Given the description of an element on the screen output the (x, y) to click on. 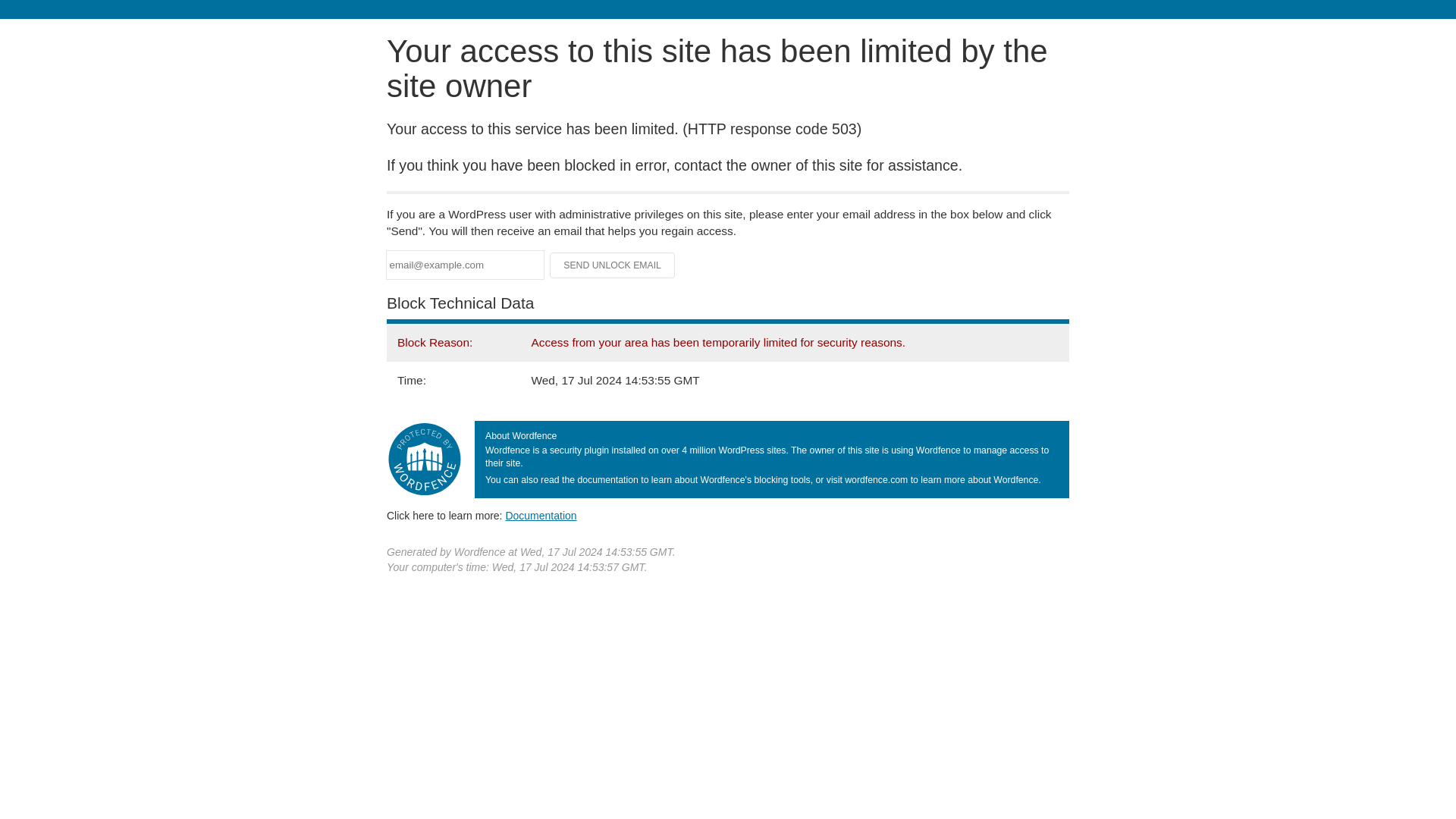
Send Unlock Email (612, 265)
Send Unlock Email (612, 265)
Documentation (540, 515)
